Given the description of an element on the screen output the (x, y) to click on. 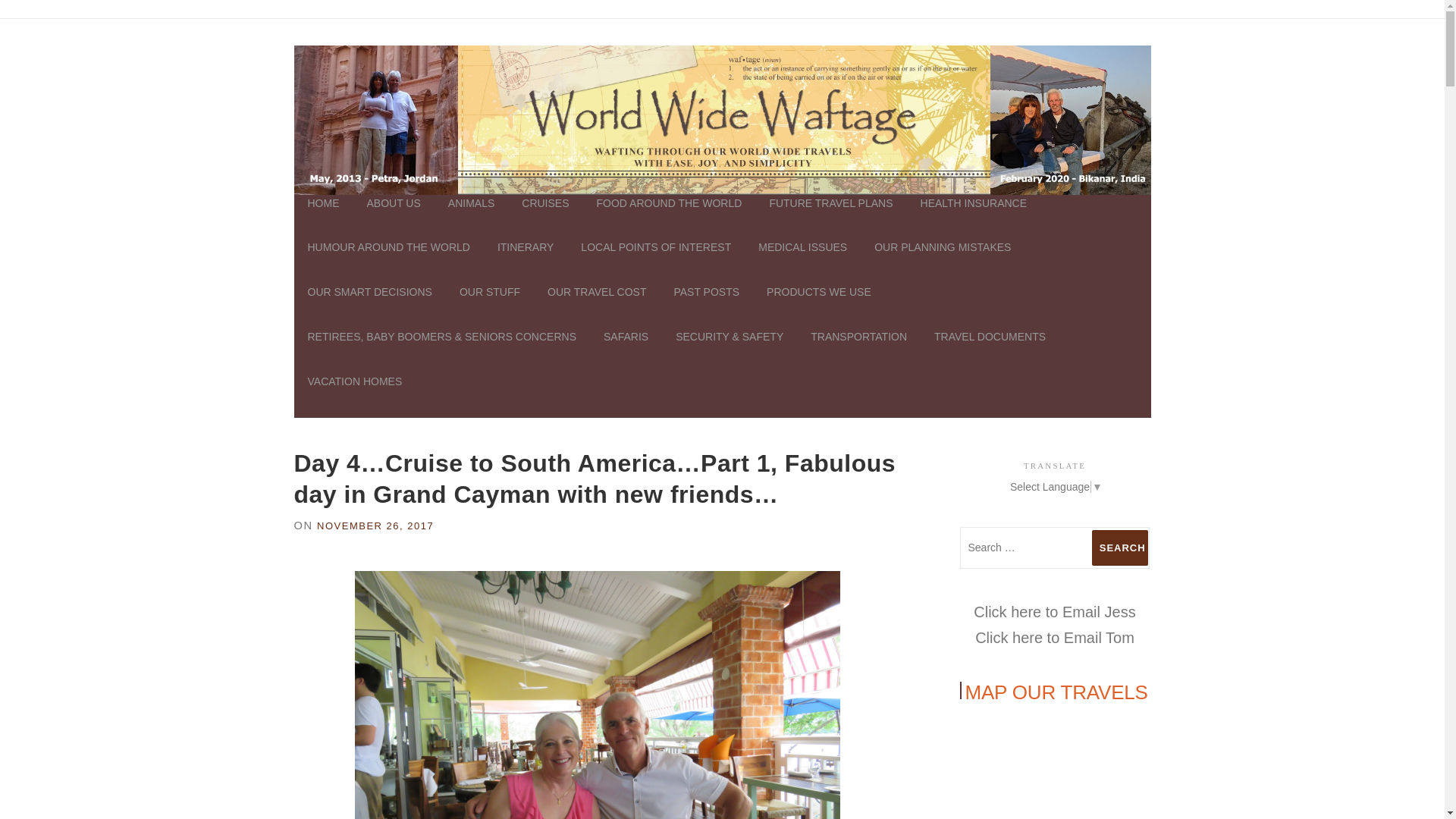
ITINERARY (525, 261)
OUR STUFF (489, 305)
OUR PLANNING MISTAKES (942, 261)
CRUISES (545, 216)
WorldWideWaftage (722, 119)
ABOUT US (393, 216)
Search (1120, 547)
TRANSPORTATION (858, 350)
Skip to content (34, 27)
HOME (323, 216)
OUR TRAVEL COST (596, 305)
SAFARIS (625, 350)
FUTURE TRAVEL PLANS (830, 216)
PRODUCTS WE USE (818, 305)
OUR SMART DECISIONS (369, 305)
